Given the description of an element on the screen output the (x, y) to click on. 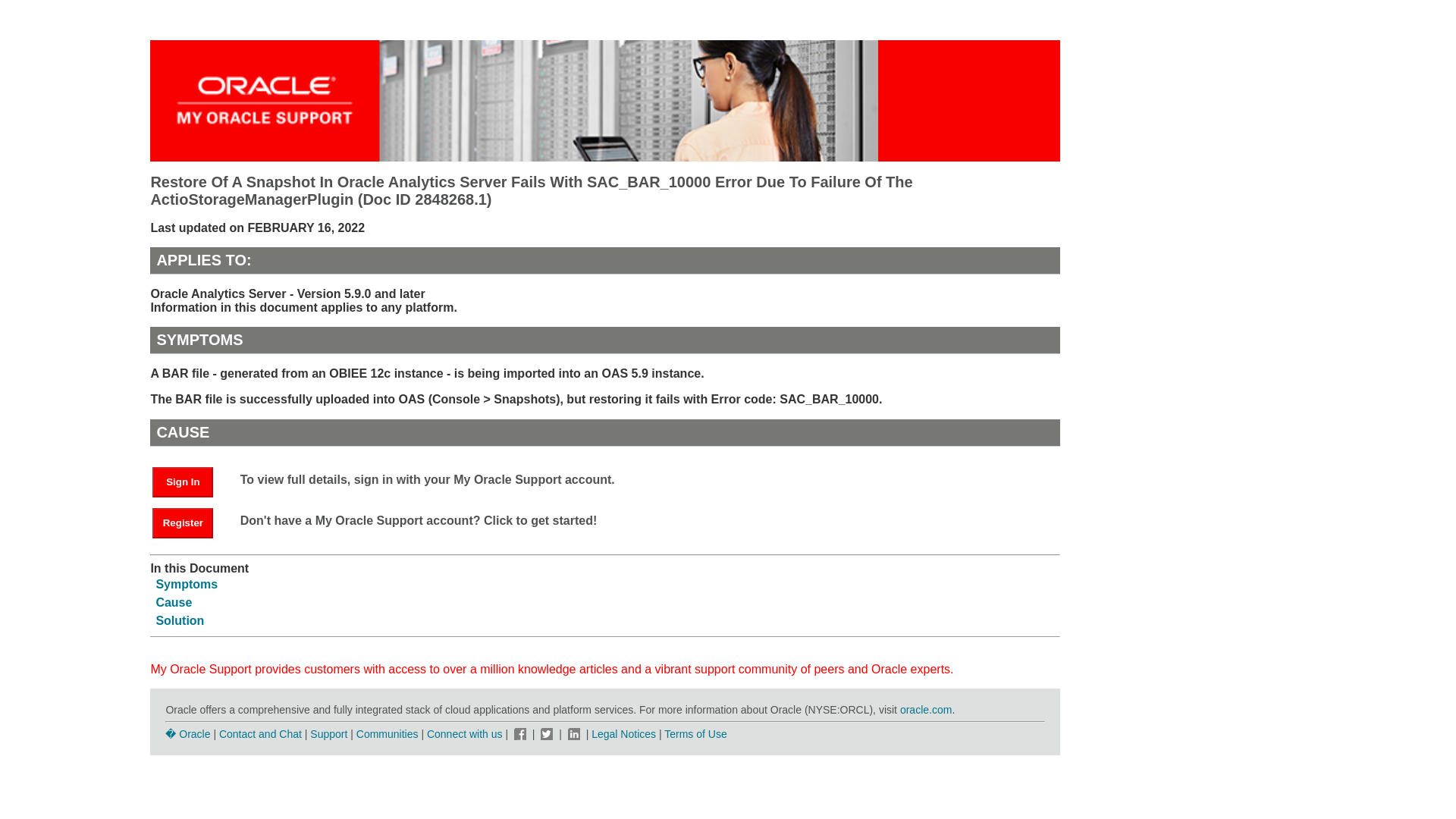
oracle.com (925, 709)
Cause (173, 602)
Sign In (190, 481)
Sign In (182, 481)
Solution (179, 620)
Legal Notices (623, 734)
Communities (387, 734)
Connect with us (465, 734)
Support (328, 734)
Terms of Use (694, 734)
